Given the description of an element on the screen output the (x, y) to click on. 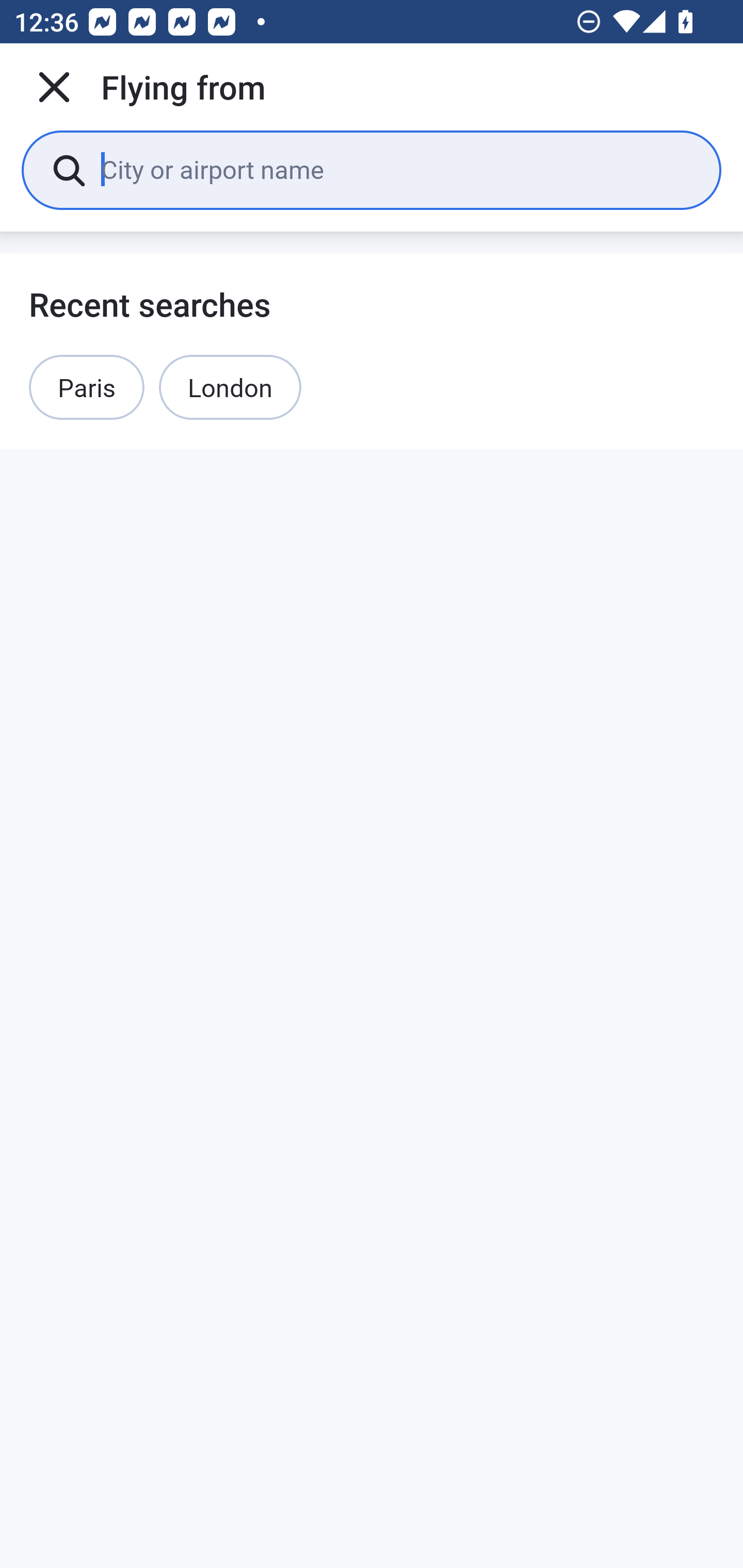
City or airport name (396, 169)
Paris (86, 387)
London (230, 387)
